Given the description of an element on the screen output the (x, y) to click on. 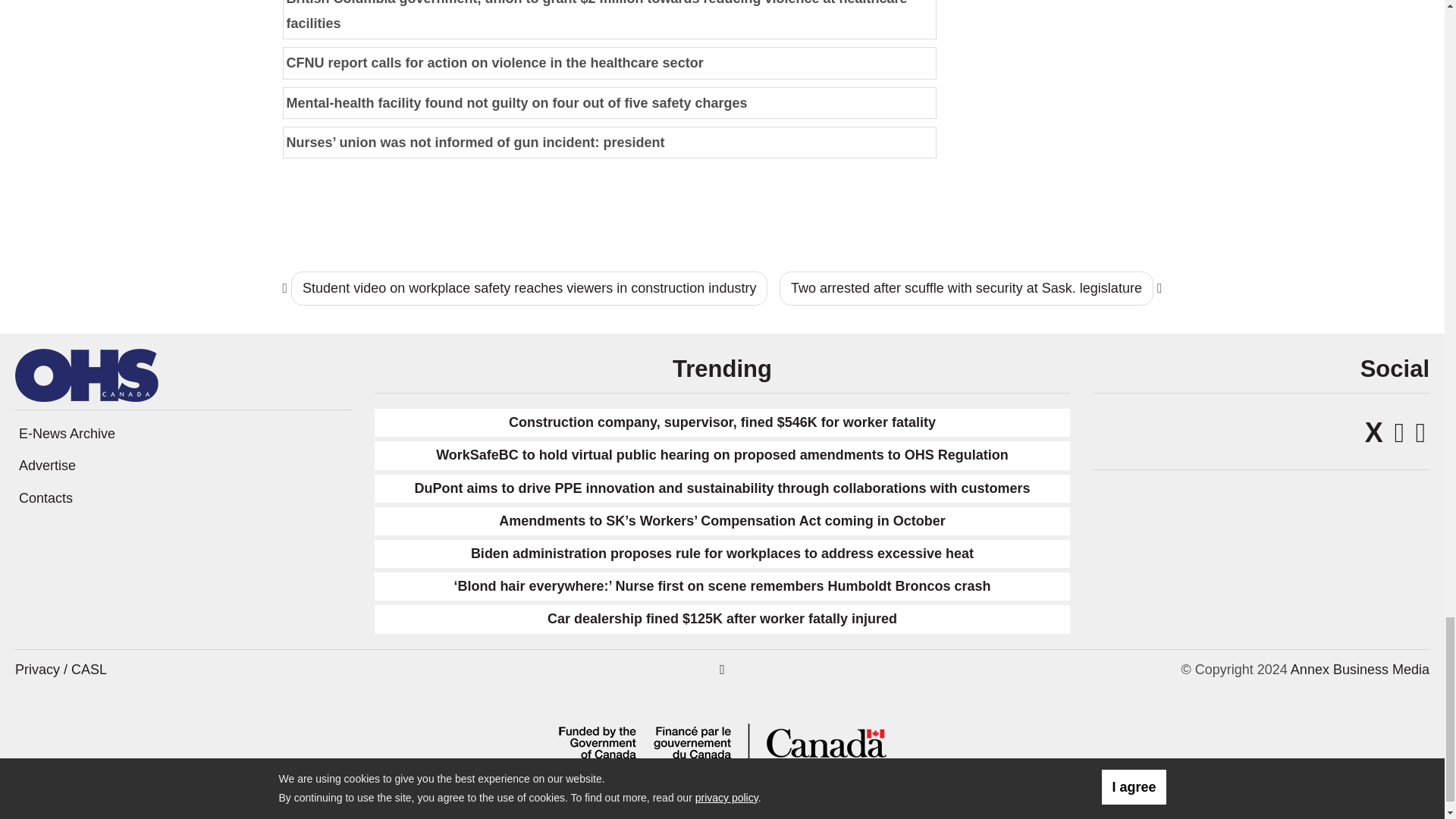
Annex Business Media (1359, 669)
OHS Canada Magazine (86, 374)
